Given the description of an element on the screen output the (x, y) to click on. 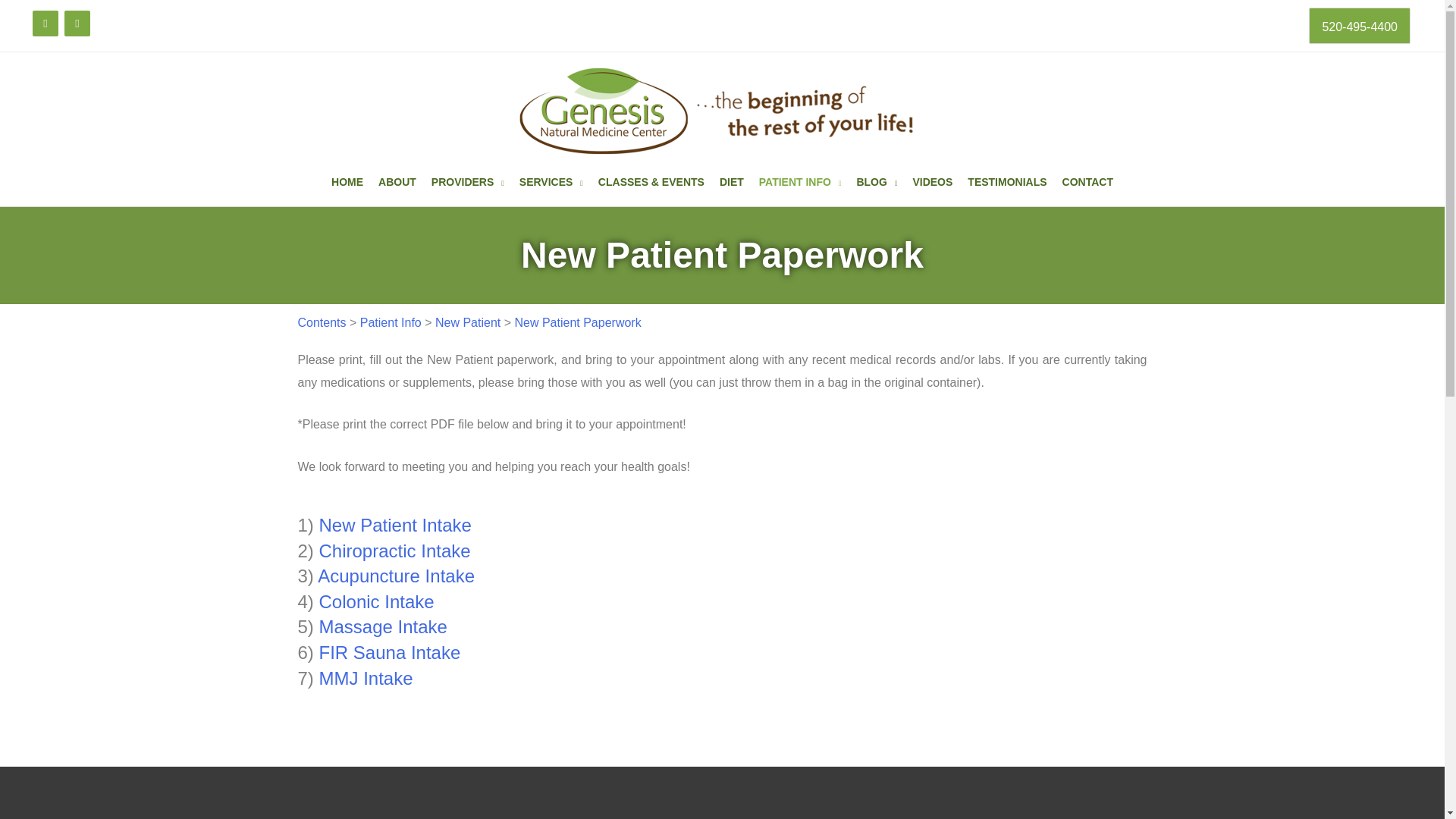
ABOUT (397, 181)
520-495-4400 (1359, 26)
Go to Contents. (321, 322)
Go to New Patient. (467, 322)
520-495-4400 (1359, 25)
Go to New Patient Paperwork. (576, 322)
Facebook (45, 23)
SERVICES (551, 181)
HOME (347, 181)
Go to Patient Info. (390, 322)
PROVIDERS (467, 181)
Instagram (77, 23)
